Given the description of an element on the screen output the (x, y) to click on. 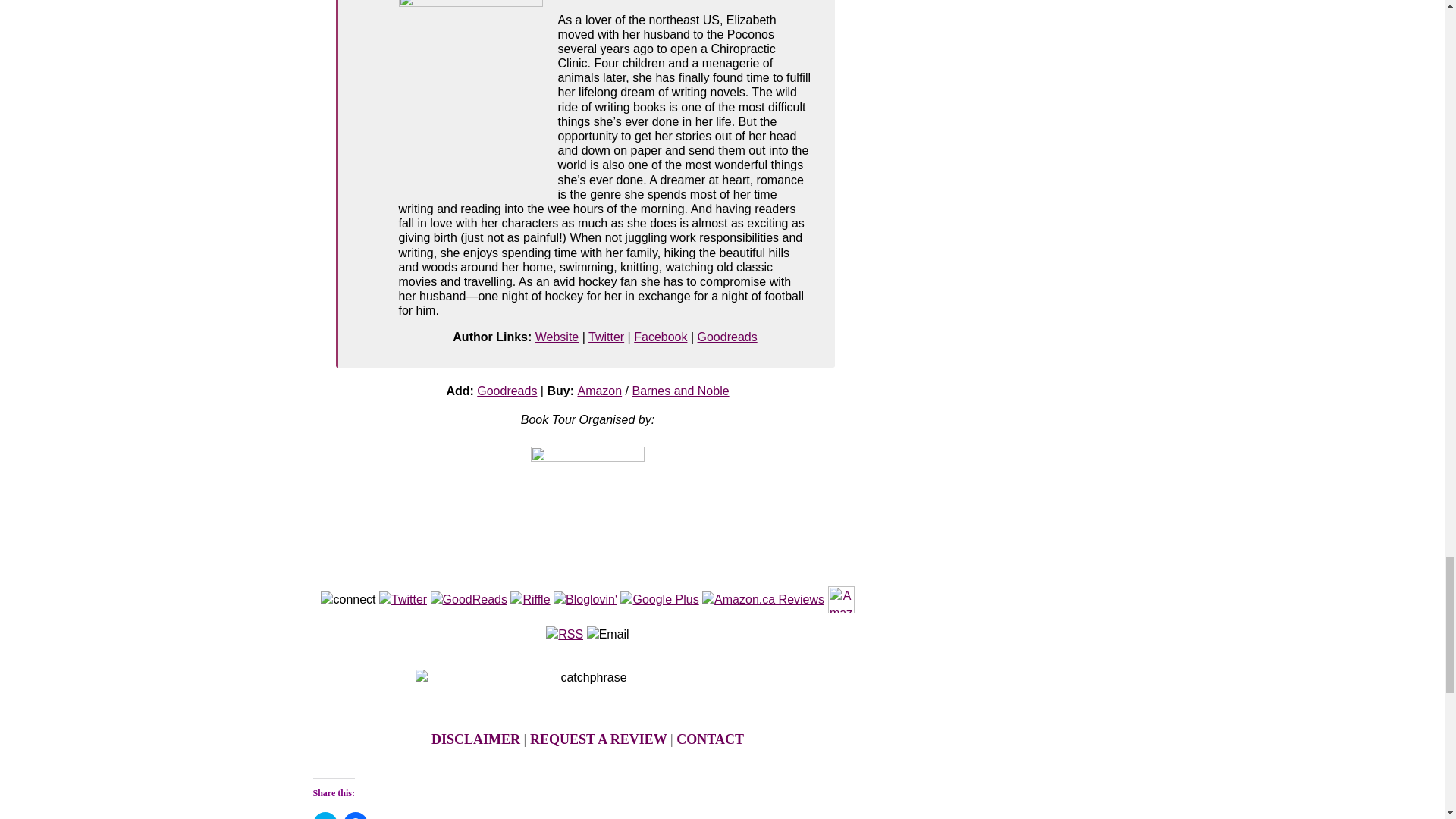
Amazon.com Reviews (841, 599)
Barnes and Noble (680, 390)
Riffle Books (530, 599)
Amazon.com Reviews (841, 599)
Click to share on Facebook (354, 815)
RSS (564, 634)
Goodreads (727, 336)
Goodreads (507, 390)
Amazon.ca Reviews (762, 599)
Goodreads (468, 599)
